Given the description of an element on the screen output the (x, y) to click on. 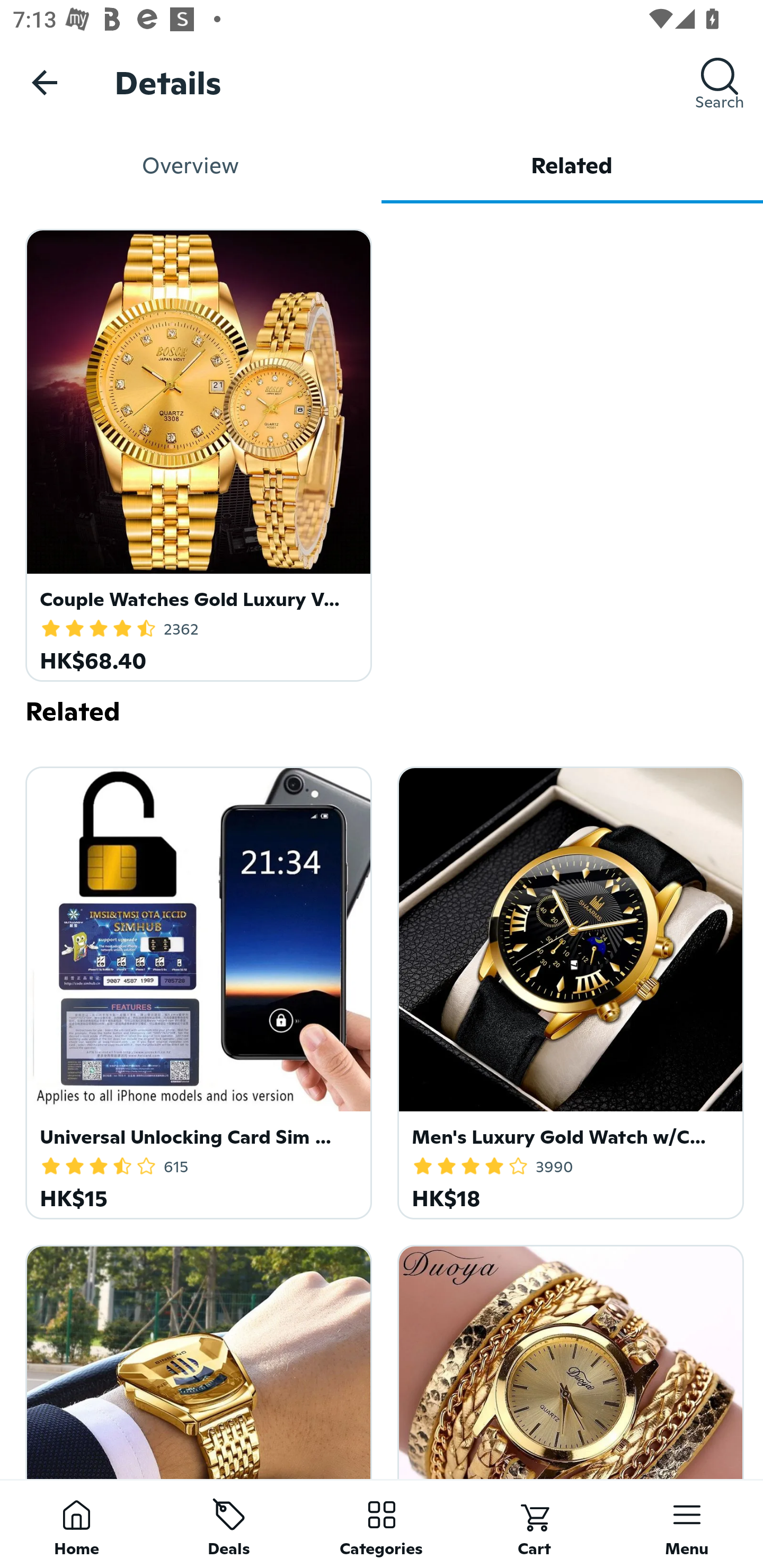
Navigate up (44, 82)
Search (719, 82)
Overview (190, 165)
Home (76, 1523)
Deals (228, 1523)
Categories (381, 1523)
Cart (533, 1523)
Menu (686, 1523)
